Given the description of an element on the screen output the (x, y) to click on. 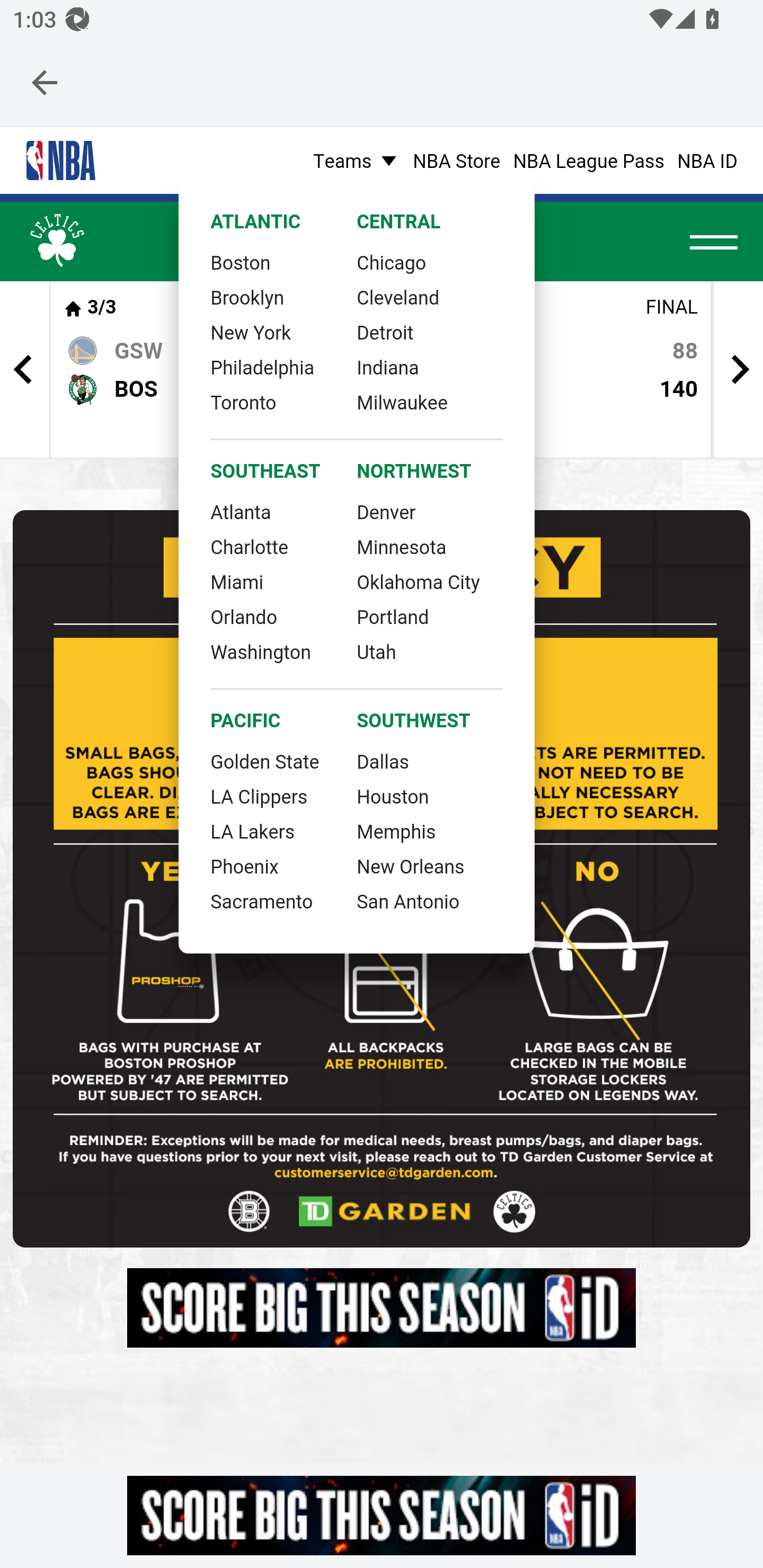
Navigate up (44, 82)
NBA Logo (60, 160)
NBA Store NBA Store NBA Store (456, 159)
NBA League Pass NBA League Pass NBA League Pass (588, 159)
NBA ID NBA ID NBA ID (707, 159)
Boston (240, 260)
Chicago (391, 260)
Brooklyn (246, 296)
Cleveland (398, 296)
New York (250, 331)
Detroit (385, 331)
Philadelphia (261, 365)
Indiana (387, 365)
Toronto (242, 401)
Milwaukee (402, 401)
Atlanta (240, 510)
Denver (386, 510)
Charlotte (249, 546)
Minnesota (401, 546)
Miami (236, 580)
Oklahoma City (417, 580)
Orlando (243, 615)
Portland (392, 615)
Washington (260, 650)
Utah (376, 650)
Golden State (264, 760)
Dallas (383, 760)
LA Clippers (258, 795)
Houston (392, 795)
LA Lakers (252, 829)
Memphis (396, 829)
Phoenix (244, 864)
New Orleans (410, 864)
Sacramento (260, 900)
San Antonio (408, 900)
